Given the description of an element on the screen output the (x, y) to click on. 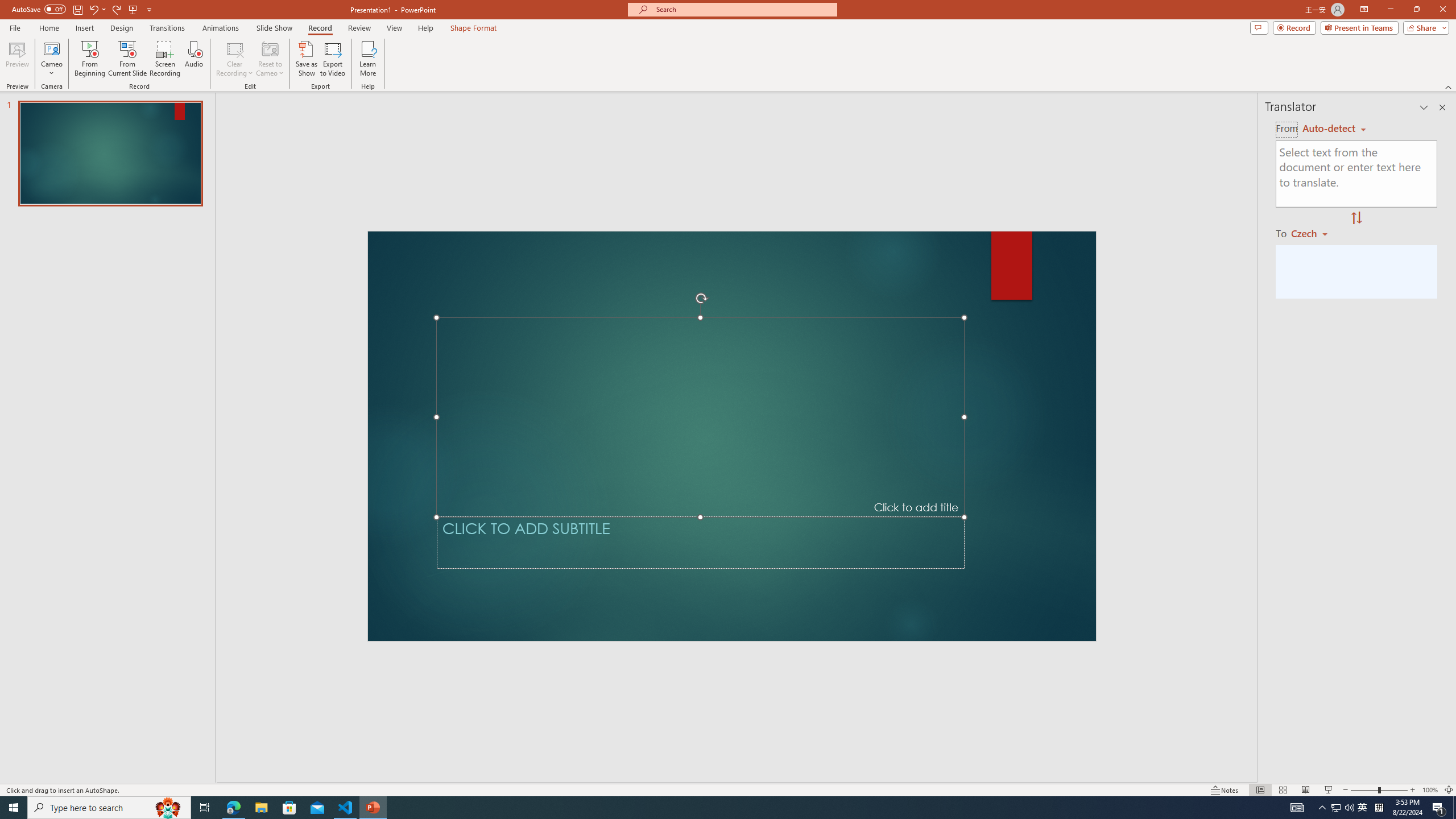
Preview (17, 58)
Close pane (1441, 107)
From Current Slide... (127, 58)
Shape Format (473, 28)
Export to Video (332, 58)
Cameo (51, 58)
From Beginning... (89, 58)
Auto-detect (1334, 128)
